Given the description of an element on the screen output the (x, y) to click on. 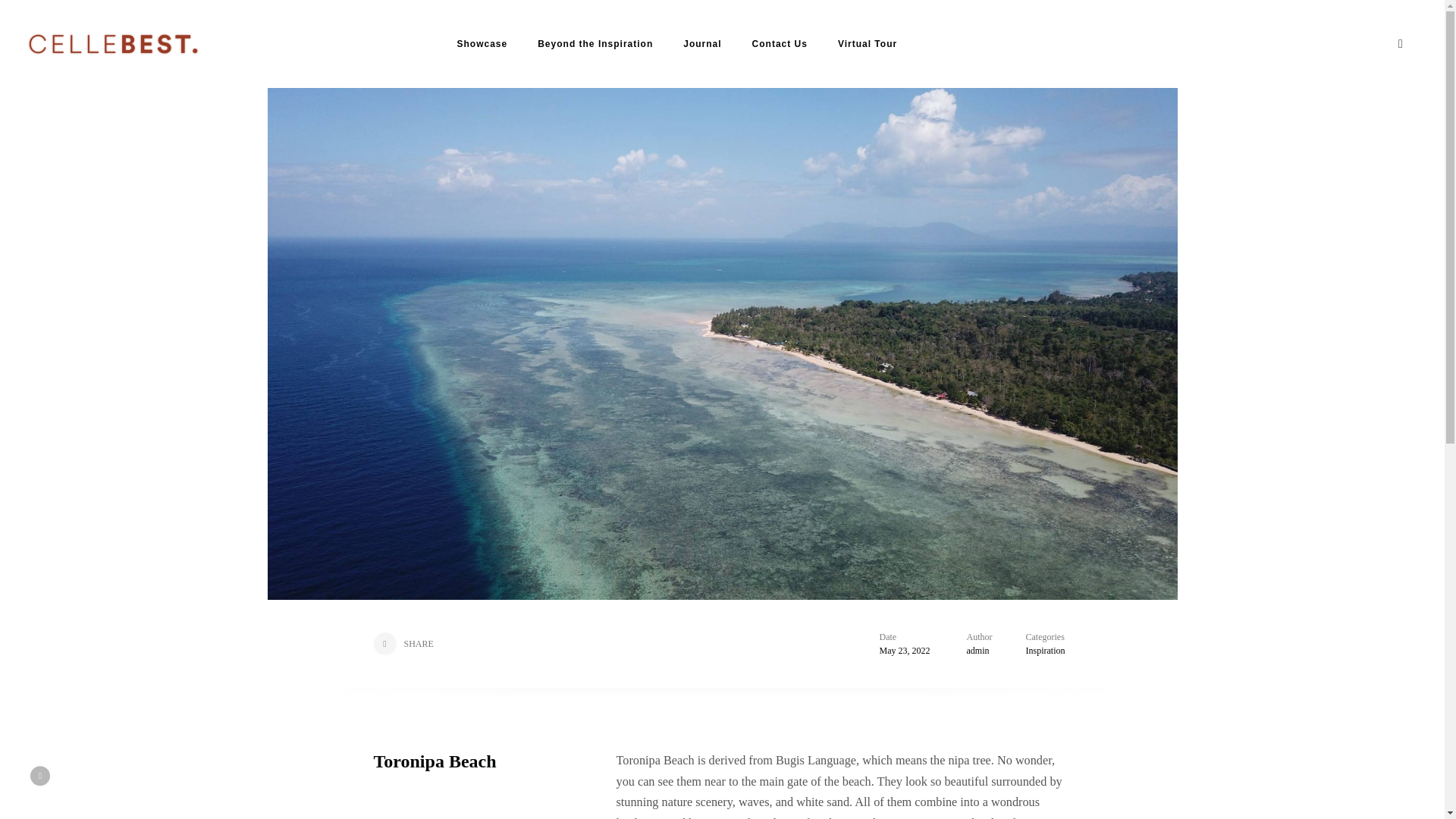
Inspiration (1044, 650)
Showcase (481, 43)
Journal (701, 43)
Beyond the Inspiration (594, 43)
admin (977, 650)
Contact Us (780, 43)
May 23, 2022 (904, 650)
Virtual Tour (867, 43)
